Given the description of an element on the screen output the (x, y) to click on. 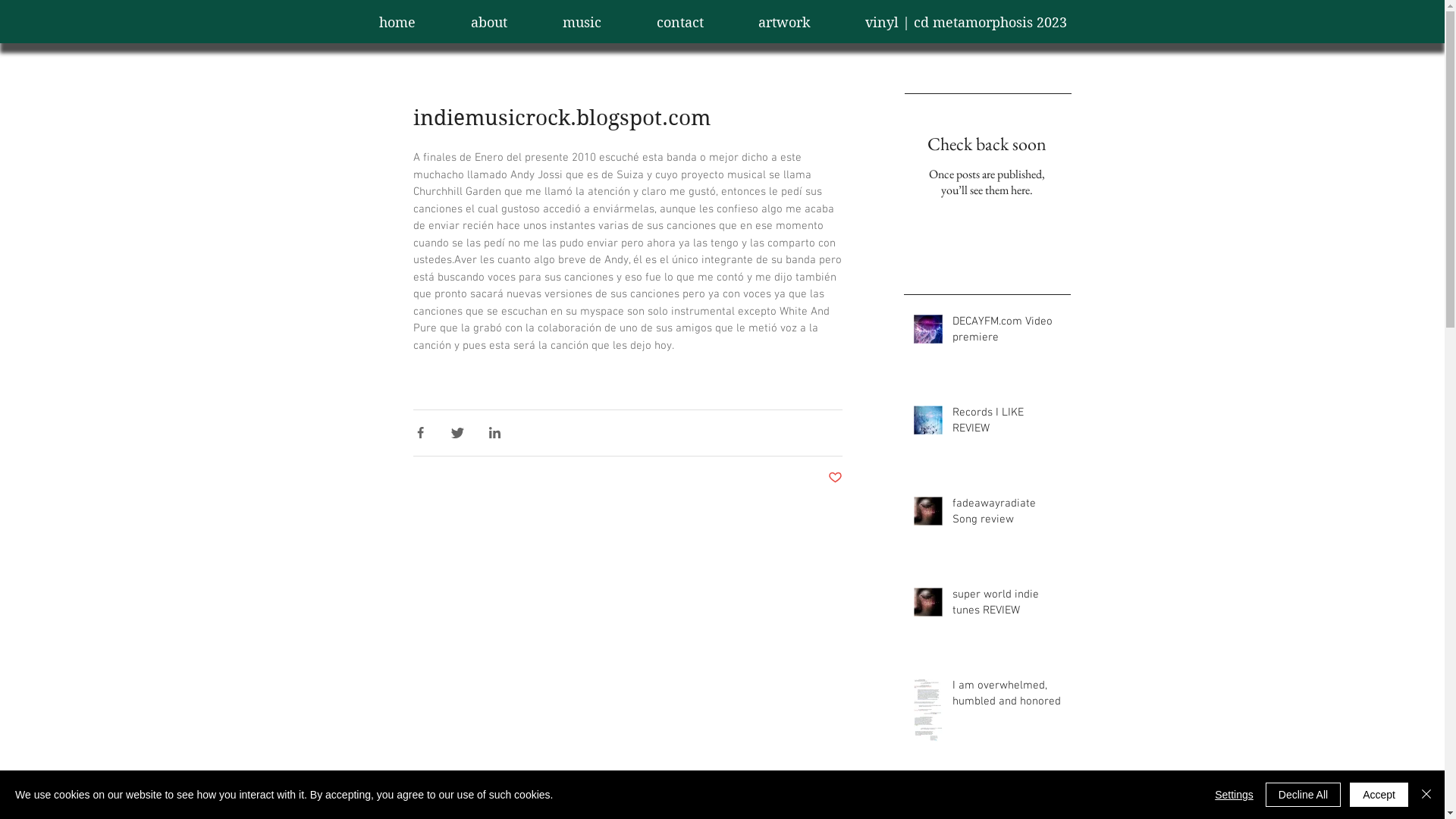
super world indie tunes REVIEW Element type: text (1006, 605)
Records I LIKE REVIEW Element type: text (1006, 423)
Decline All Element type: text (1302, 794)
music Element type: text (582, 22)
contact Element type: text (680, 22)
Accept Element type: text (1378, 794)
vinyl | cd metamorphosis 2023 Element type: text (965, 22)
Post not marked as liked Element type: text (835, 478)
about Element type: text (488, 22)
home Element type: text (397, 22)
I am overwhelmed, humbled and honored Element type: text (1006, 696)
artwork Element type: text (784, 22)
DECAYFM.com Video premiere Element type: text (1006, 332)
fadeawayradiate Song review Element type: text (1006, 514)
